Given the description of an element on the screen output the (x, y) to click on. 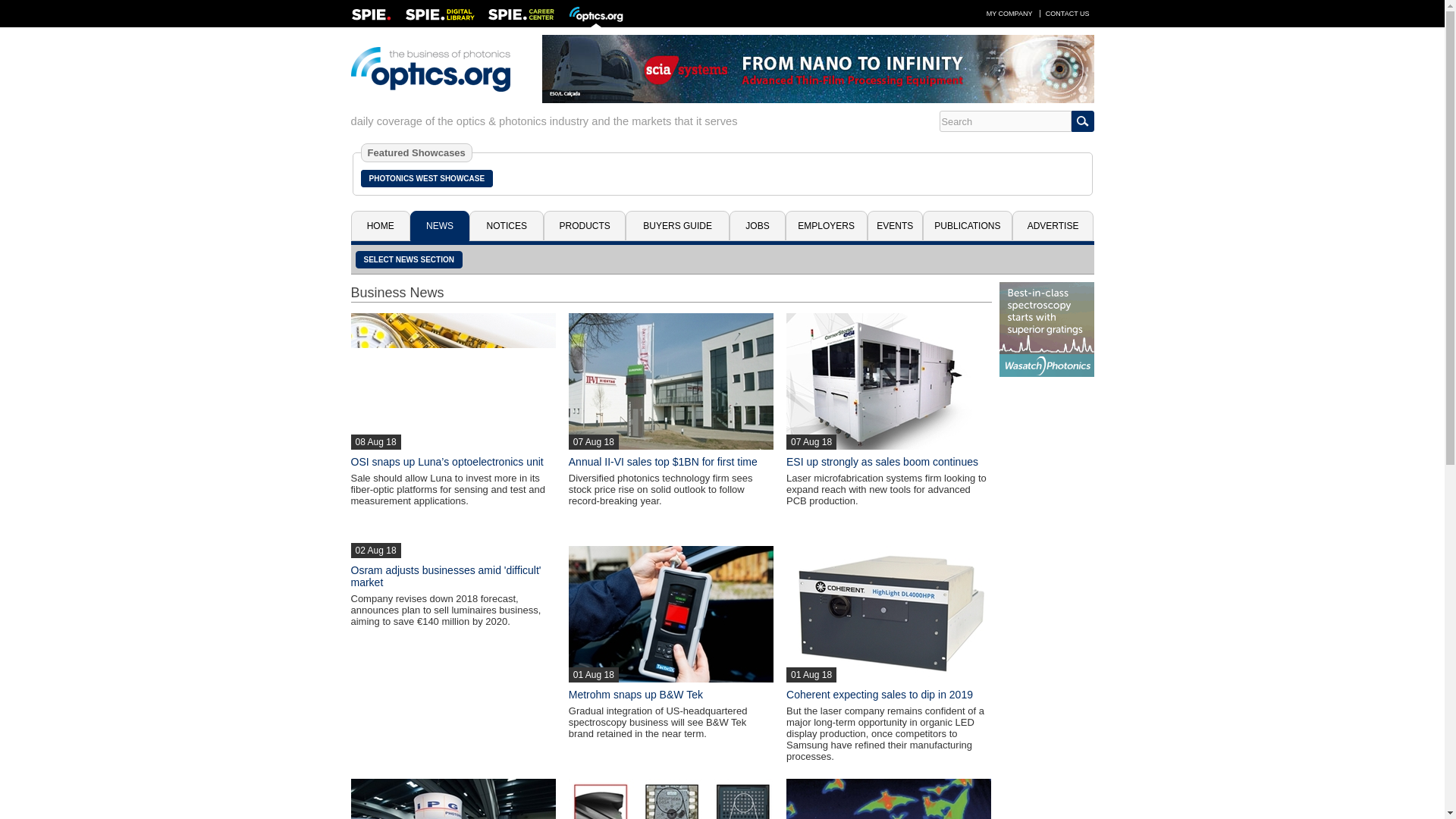
PRODUCTS (584, 225)
CONTACT US (1067, 13)
BUYERS GUIDE (677, 225)
NEWS (439, 225)
MY COMPANY (1008, 13)
HOME (379, 225)
PHOTONICS WEST SHOWCASE (427, 178)
NOTICES (505, 225)
JOBS (757, 225)
Search (1004, 120)
